Given the description of an element on the screen output the (x, y) to click on. 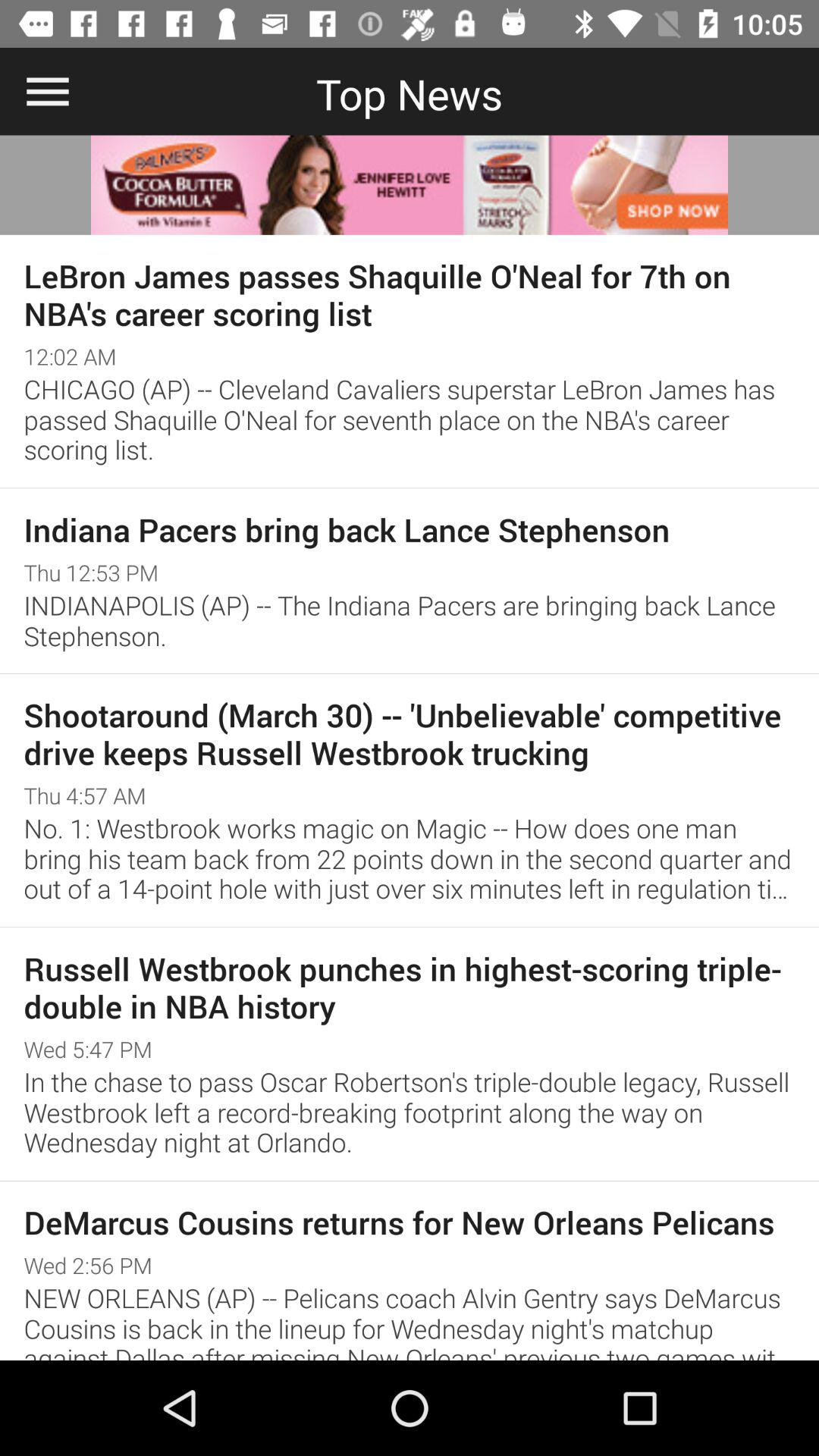
advertisement (409, 184)
